Given the description of an element on the screen output the (x, y) to click on. 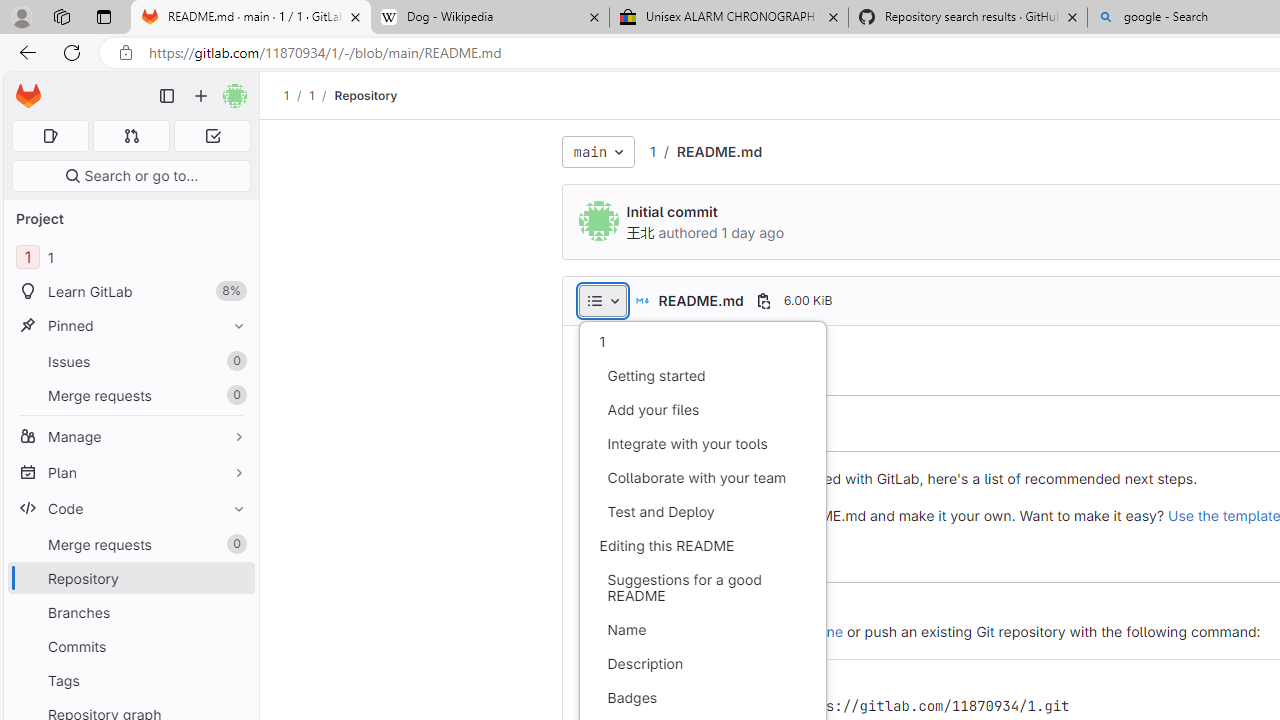
Badges (701, 697)
Description (701, 663)
Pin Tags (234, 680)
To-Do list 0 (212, 136)
Getting started (701, 375)
Plan (130, 471)
Create new... (201, 96)
Editing this README (701, 545)
Pinned (130, 325)
Add files using the command line (732, 631)
Pin Branches (234, 611)
Unpin Merge requests (234, 544)
Commits (130, 646)
1 (701, 341)
